Given the description of an element on the screen output the (x, y) to click on. 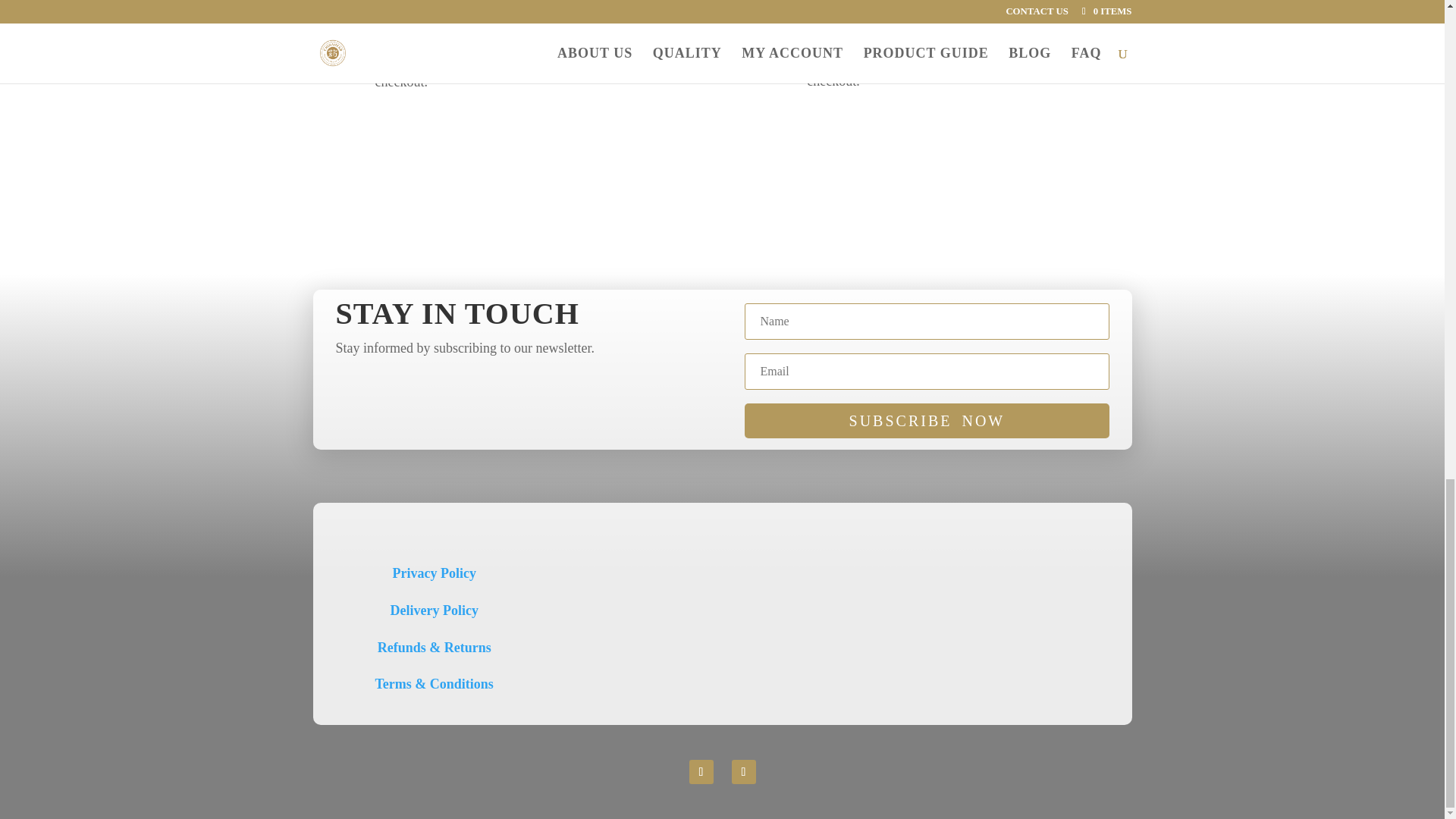
Follow on Facebook (700, 771)
SUBSCRIBE NOW (926, 420)
Delivery Policy (433, 610)
Follow on Instagram (742, 771)
Privacy Policy (433, 572)
